Given the description of an element on the screen output the (x, y) to click on. 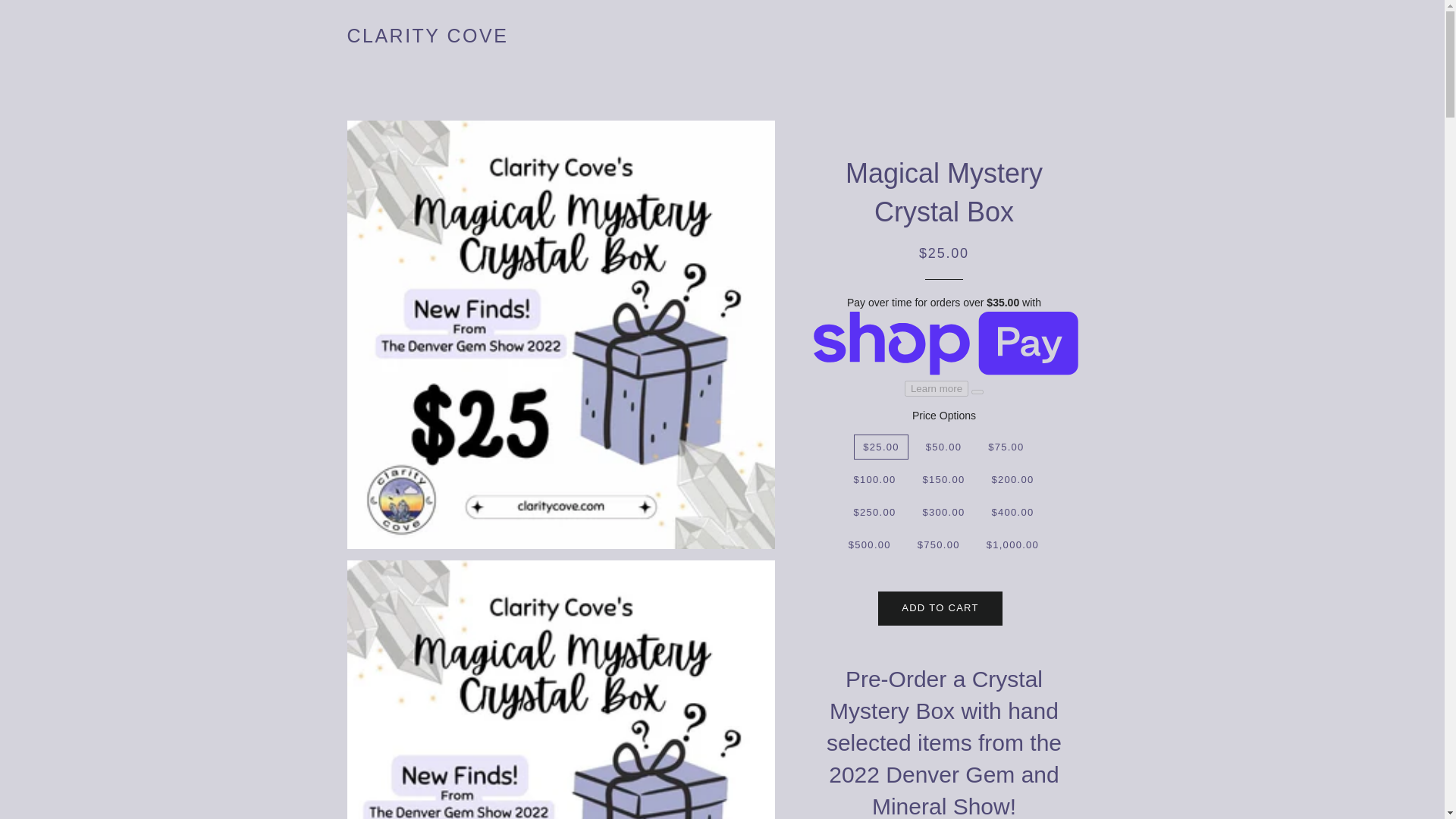
ADD TO CART (940, 607)
CLARITY COVE (427, 35)
